Given the description of an element on the screen output the (x, y) to click on. 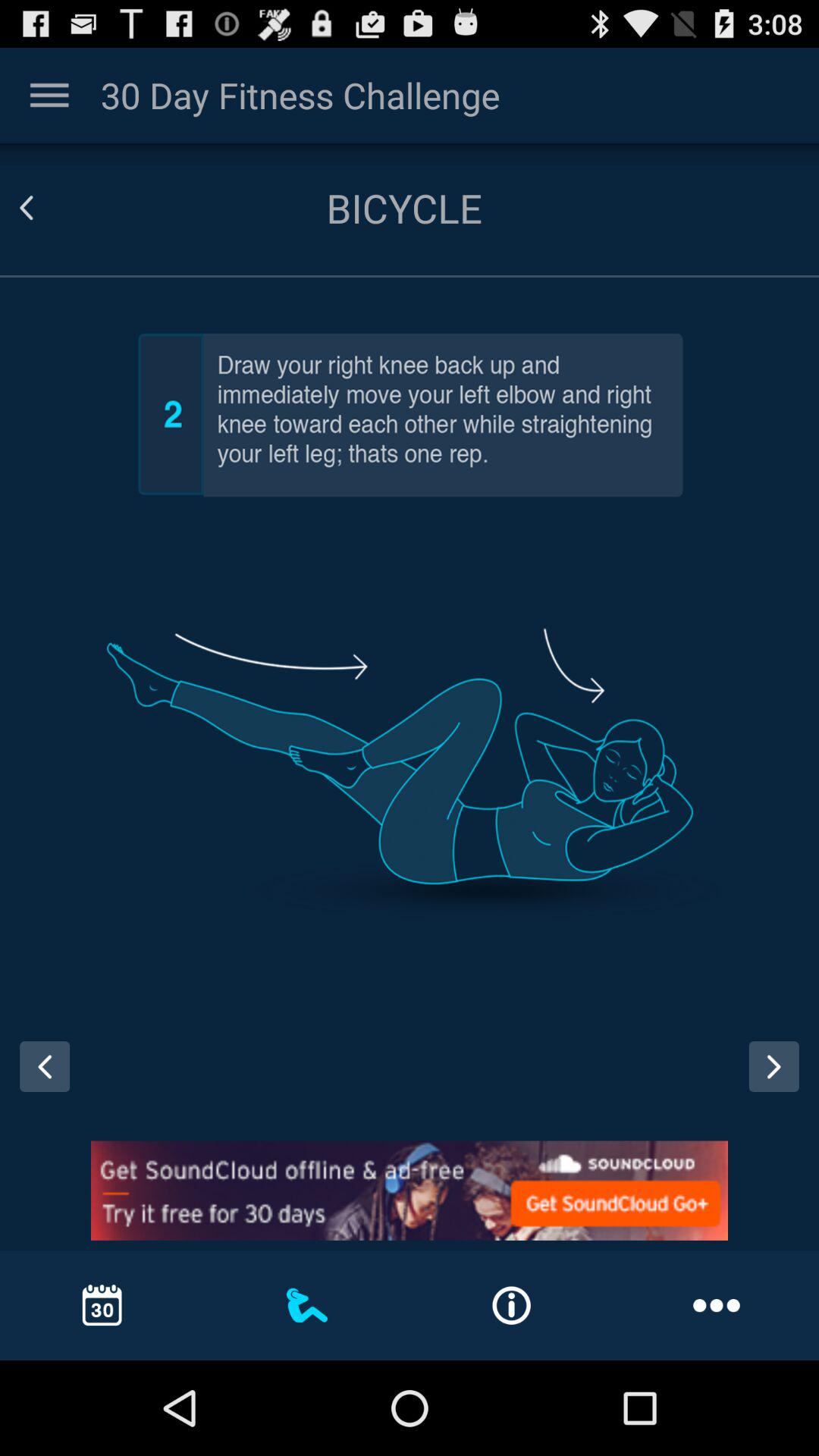
next page (774, 1066)
